Given the description of an element on the screen output the (x, y) to click on. 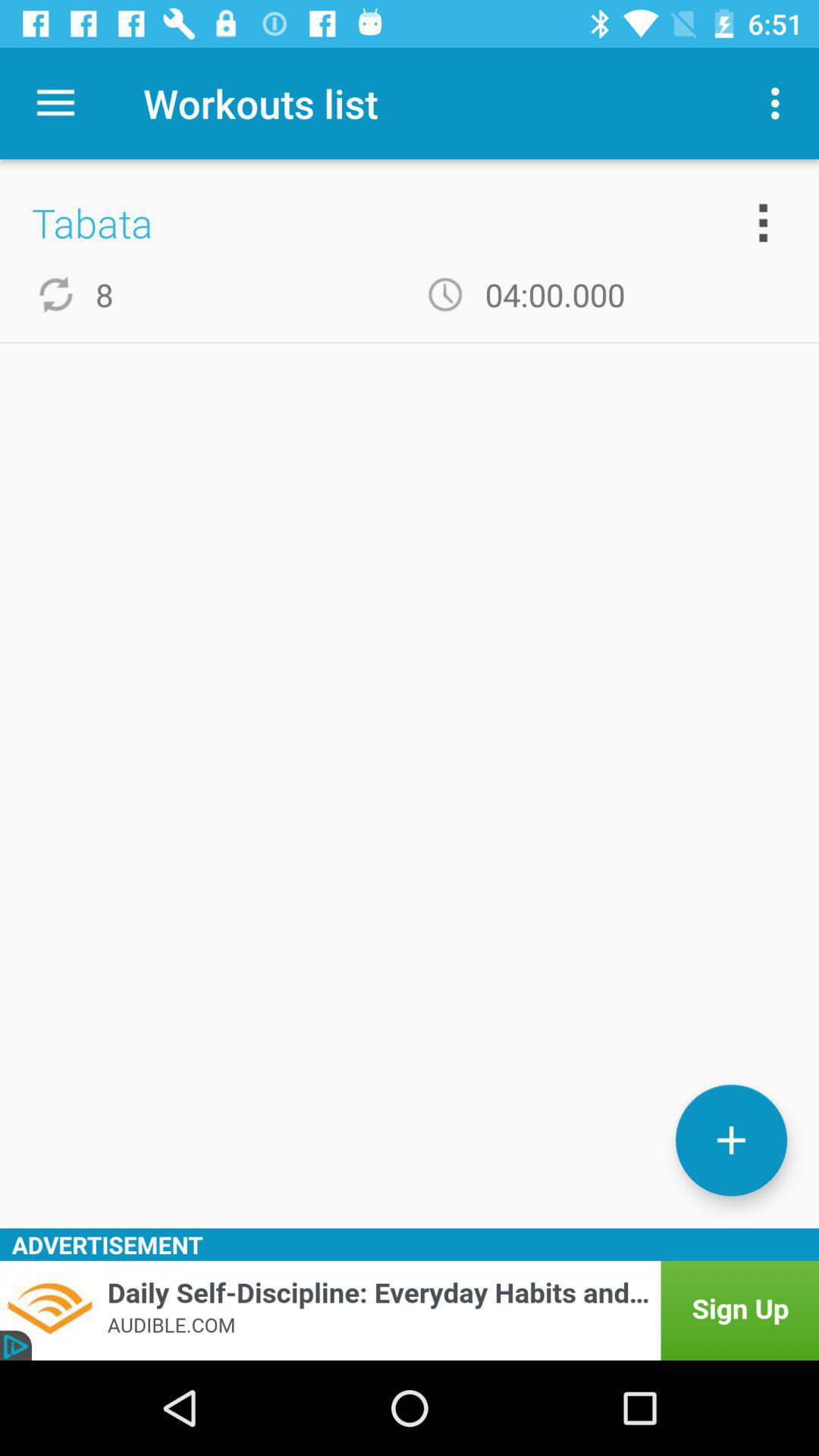
add workout list (731, 1140)
